Given the description of an element on the screen output the (x, y) to click on. 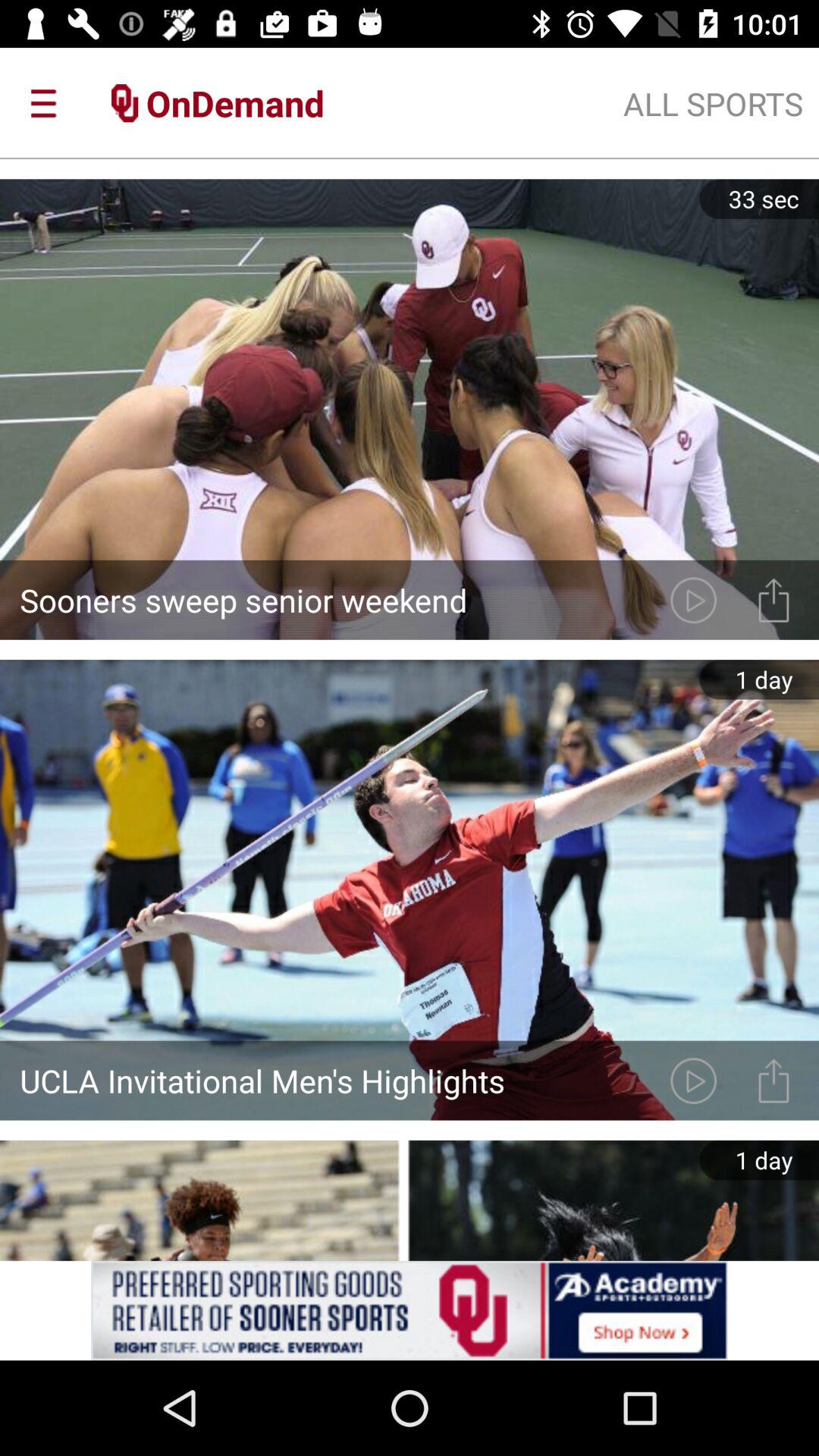
plays the selected video clip (693, 599)
